Given the description of an element on the screen output the (x, y) to click on. 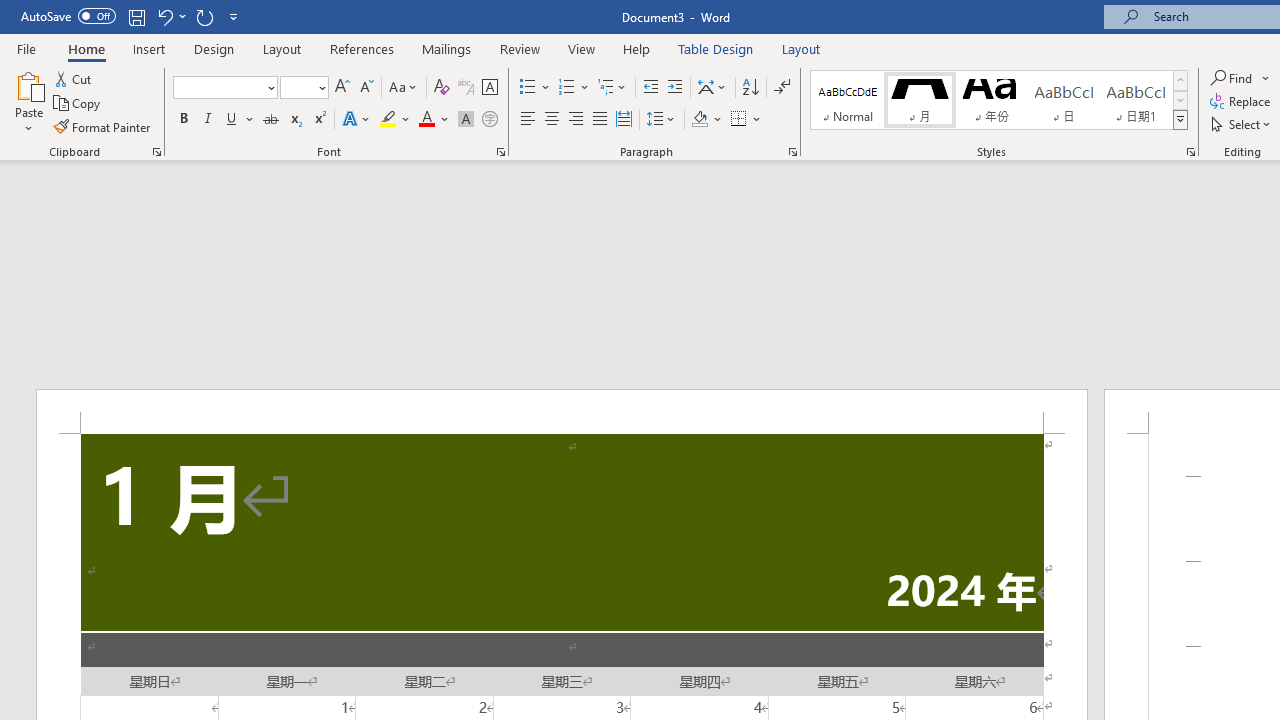
Font Color RGB(255, 0, 0) (426, 119)
